Given the description of an element on the screen output the (x, y) to click on. 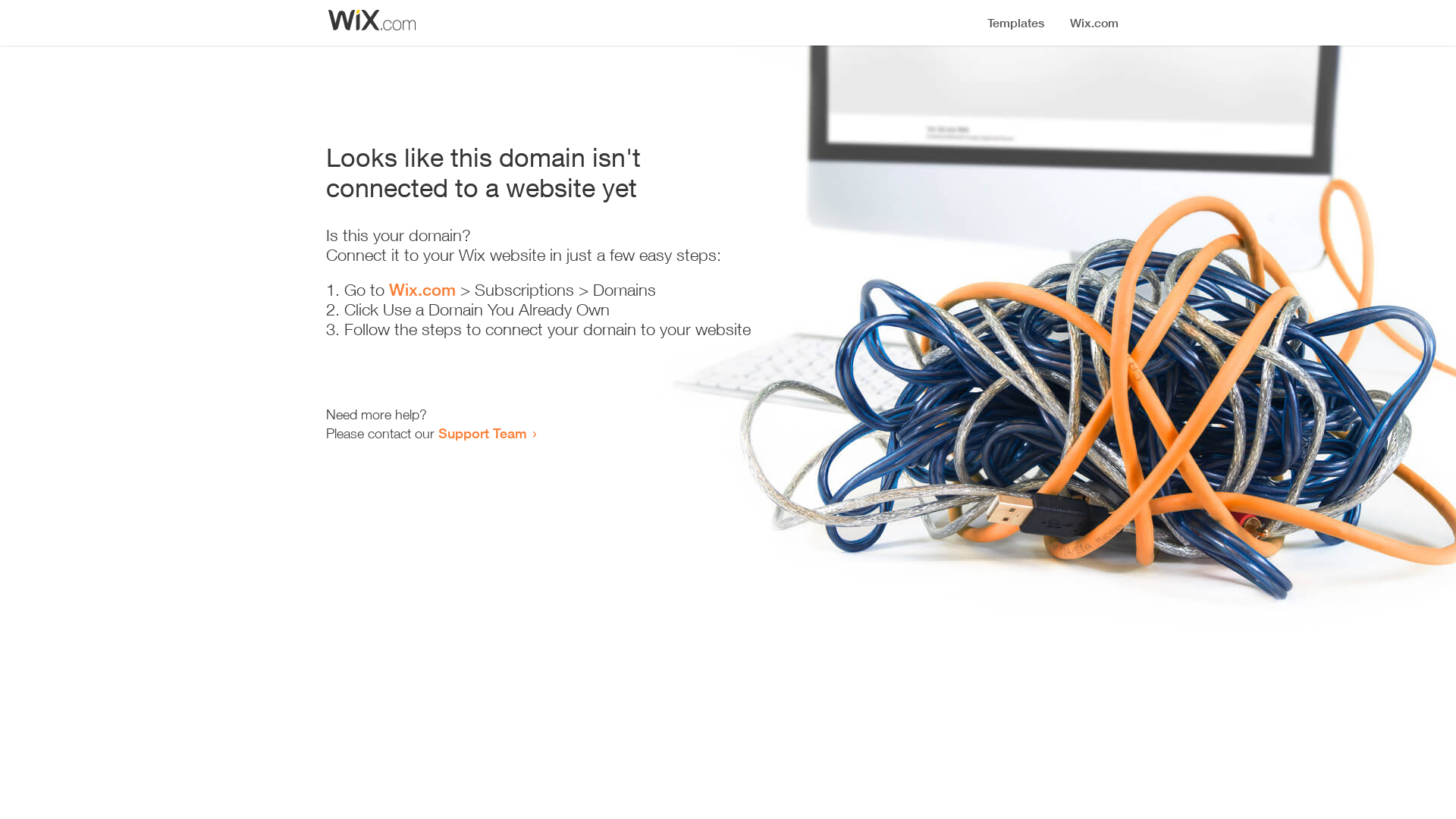
Support Team Element type: text (482, 432)
Wix.com Element type: text (422, 289)
